Given the description of an element on the screen output the (x, y) to click on. 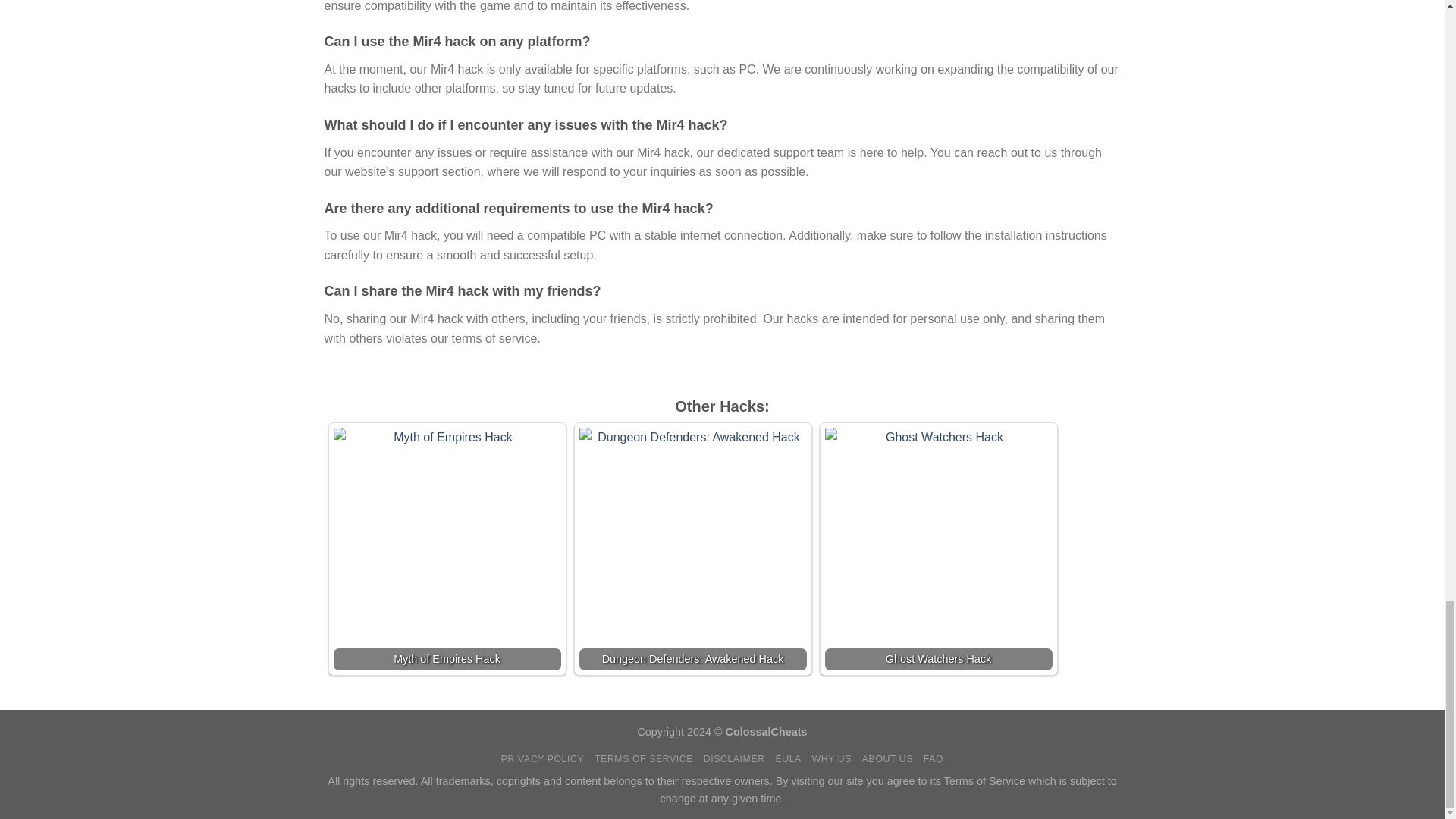
Dungeon Defenders: Awakened Hack (692, 548)
FAQ (933, 758)
WHY US (831, 758)
DISCLAIMER (734, 758)
Ghost Watchers Hack (938, 548)
EULA (787, 758)
ABOUT US (886, 758)
TERMS OF SERVICE (643, 758)
Dungeon Defenders: Awakened Hack (692, 548)
Myth of Empires Hack (446, 548)
